Given the description of an element on the screen output the (x, y) to click on. 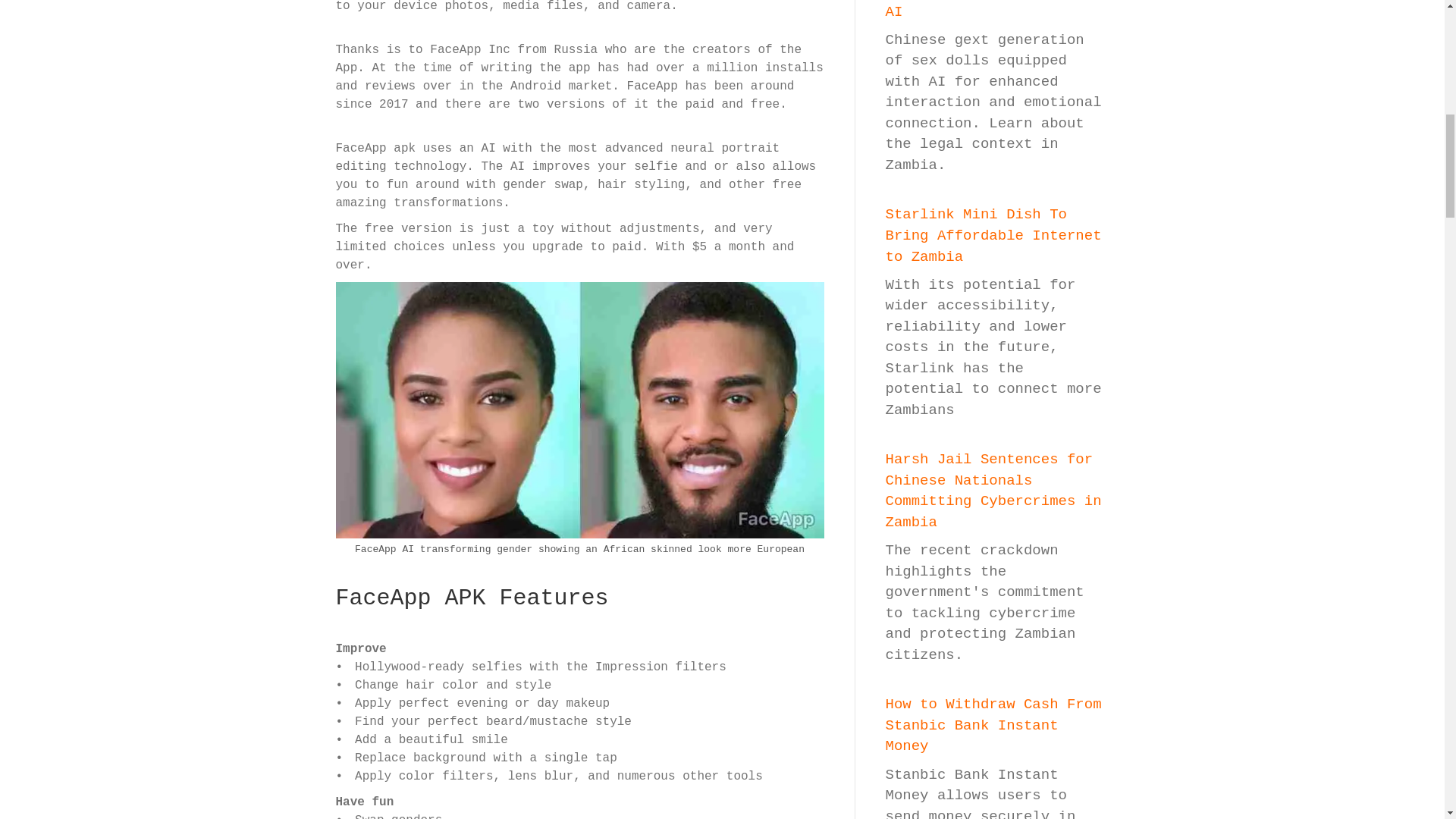
Every Zambian Is Trying FaceApp 2 (579, 409)
